Given the description of an element on the screen output the (x, y) to click on. 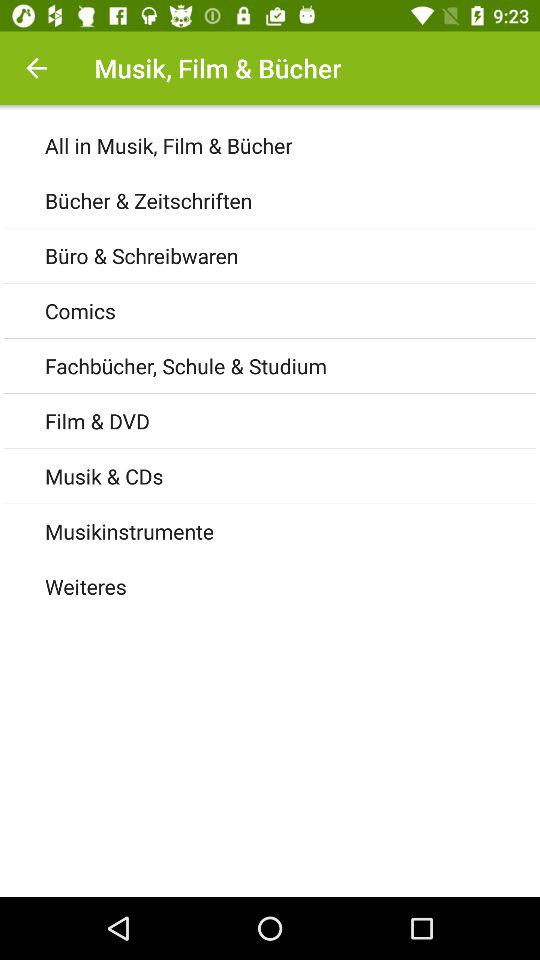
goes back to the last page (36, 68)
